Given the description of an element on the screen output the (x, y) to click on. 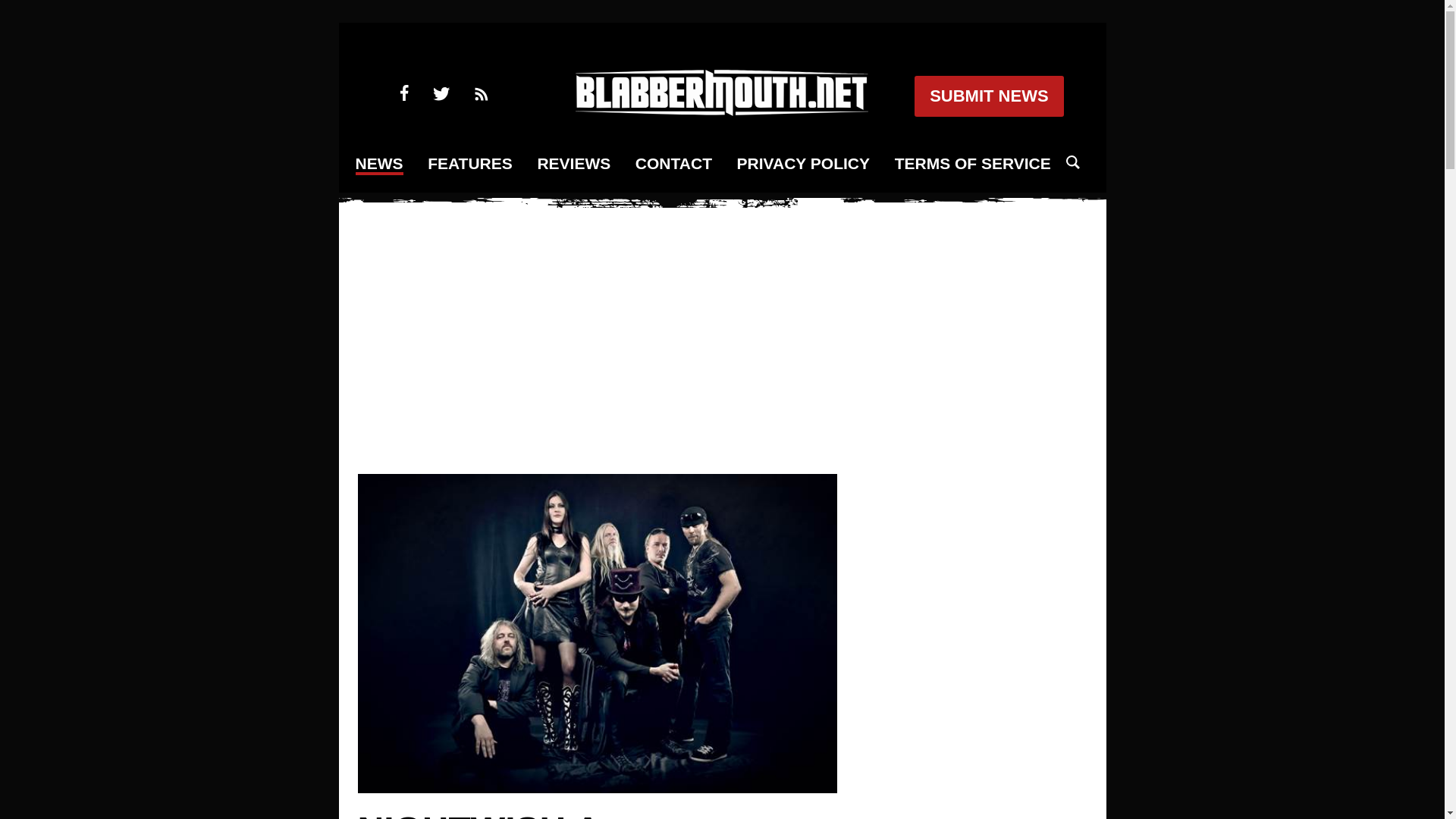
search icon (1072, 161)
CONTACT (672, 163)
FEATURES (470, 163)
TERMS OF SERVICE (973, 163)
PRIVACY POLICY (802, 163)
blabbermouth (721, 110)
SUBMIT NEWS (988, 96)
NEWS (379, 164)
REVIEWS (573, 163)
